Given the description of an element on the screen output the (x, y) to click on. 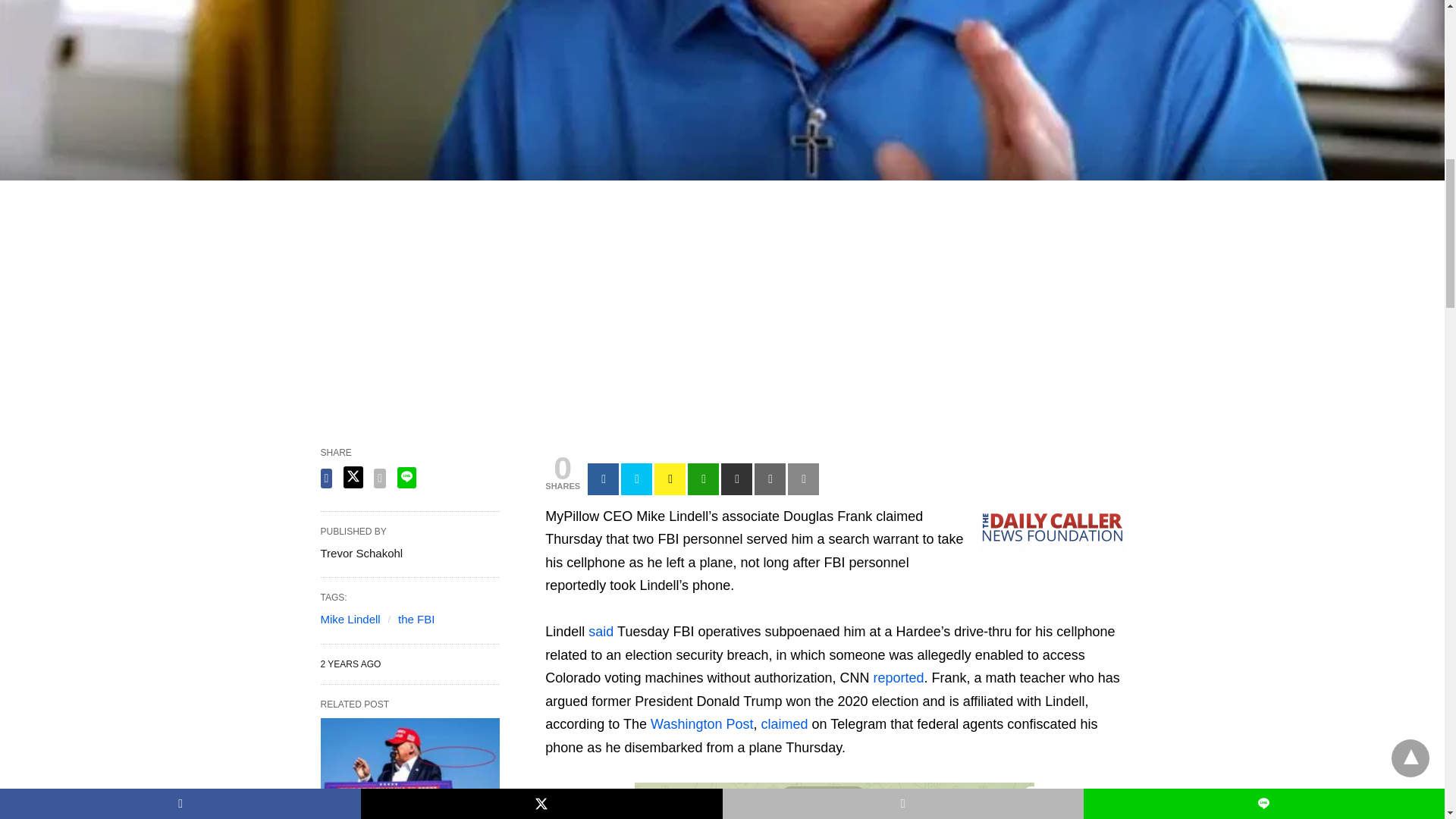
line share (406, 477)
Mike Lindell (350, 618)
the FBI (415, 618)
